Given the description of an element on the screen output the (x, y) to click on. 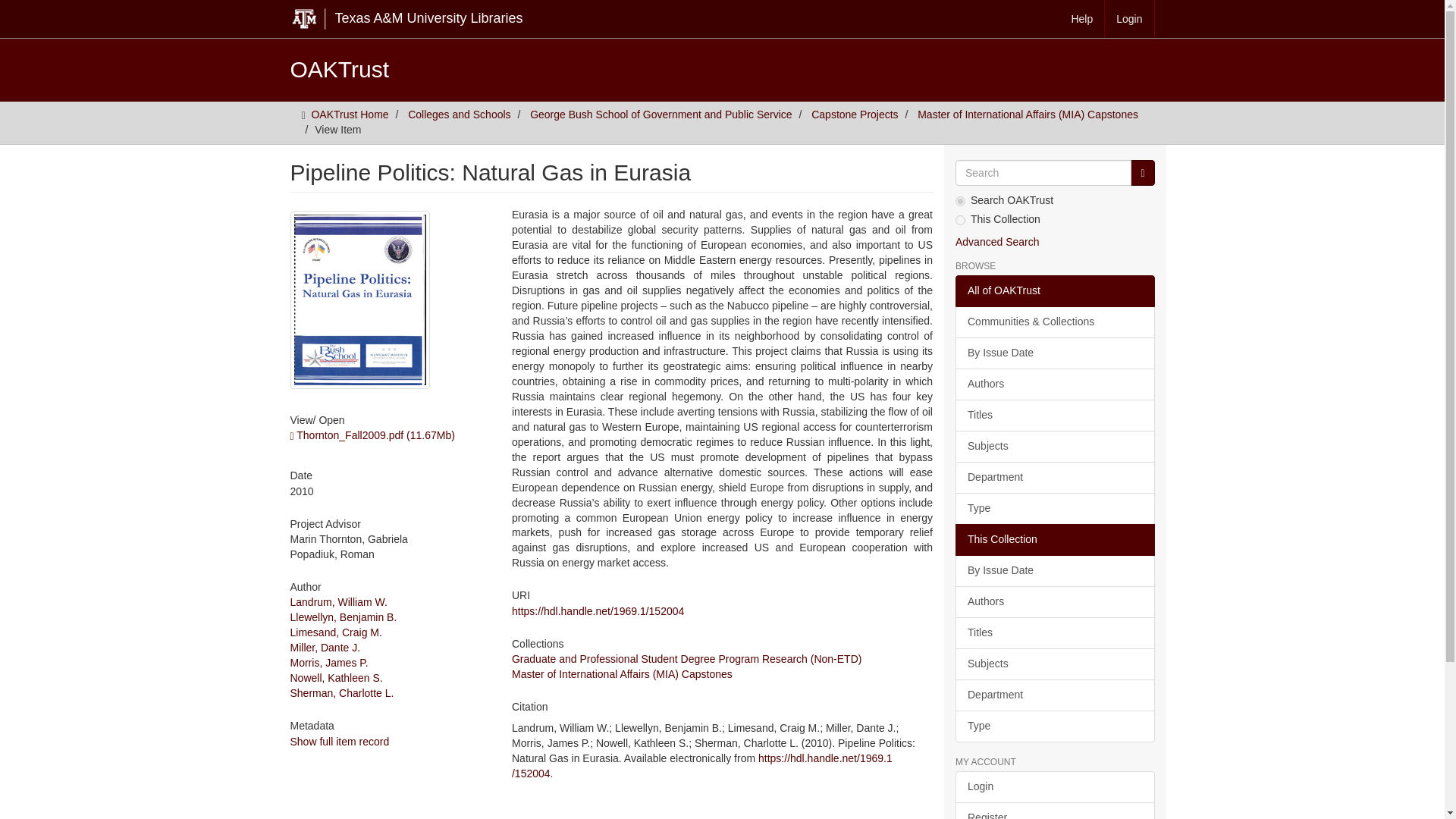
Help (1082, 18)
Capstone Projects (854, 114)
Llewellyn, Benjamin B. (342, 616)
George Bush School of Government and Public Service (660, 114)
Colleges and Schools (459, 114)
Show full item record (338, 741)
Go (1142, 172)
Limesand, Craig M. (335, 632)
Miller, Dante J. (324, 647)
Sherman, Charlotte L. (341, 693)
Nowell, Kathleen S. (335, 677)
Morris, James P. (328, 662)
Landrum, William W. (338, 602)
OAKTrust Home (349, 114)
Login (1129, 18)
